Given the description of an element on the screen output the (x, y) to click on. 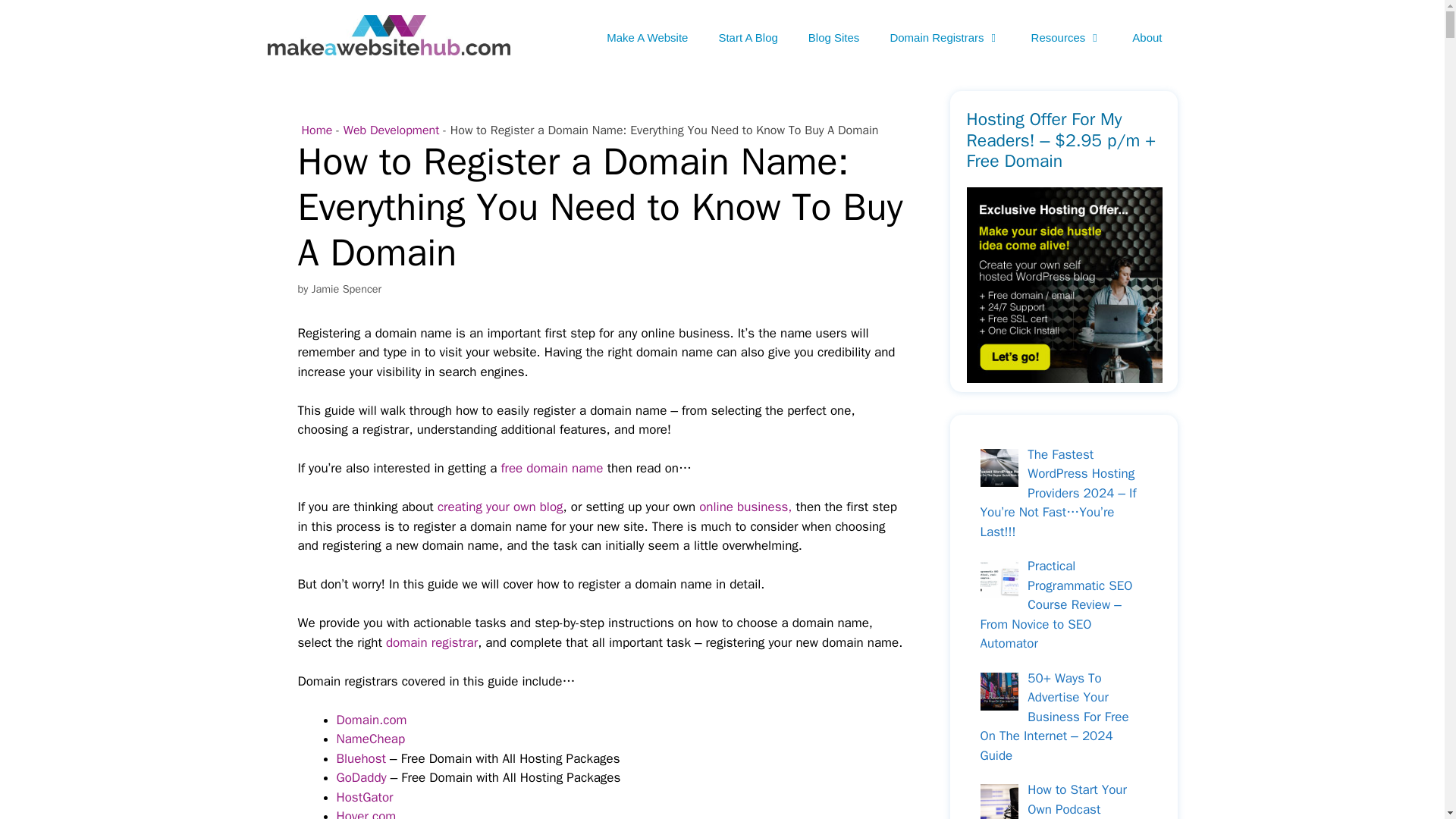
Home (317, 130)
Web Development (391, 130)
online business, (745, 506)
free domain name (551, 467)
View all posts by Jamie Spencer (346, 288)
HostGator (364, 797)
Resources (1067, 37)
domain registrar (431, 642)
creating your own blog (500, 506)
domain registrar (431, 642)
